Given the description of an element on the screen output the (x, y) to click on. 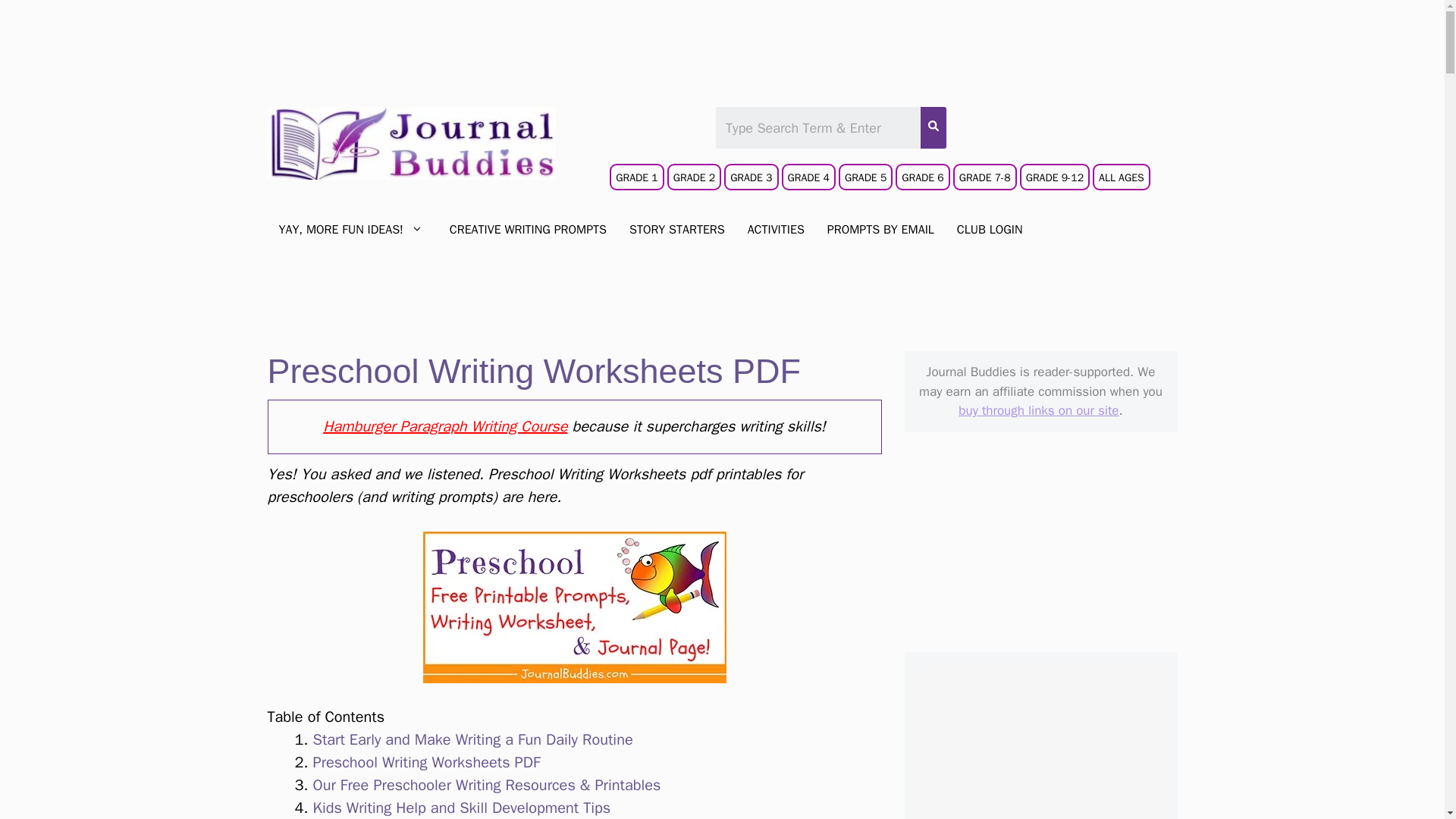
JournalBuddies.com (410, 141)
GRADE 6 (922, 176)
GRADE 6 (923, 181)
JournalBuddies.com (410, 143)
ALL AGES (1121, 176)
GRADE 4 (808, 176)
GRADE 2 (693, 176)
GRADE 7-8 (984, 176)
ALL AGES (1123, 181)
GRADE 4 (809, 181)
GRADE 9-12 (1056, 181)
GRADE 1 (638, 181)
GRADE 3 (750, 176)
GRADE 2 (694, 181)
